Given the description of an element on the screen output the (x, y) to click on. 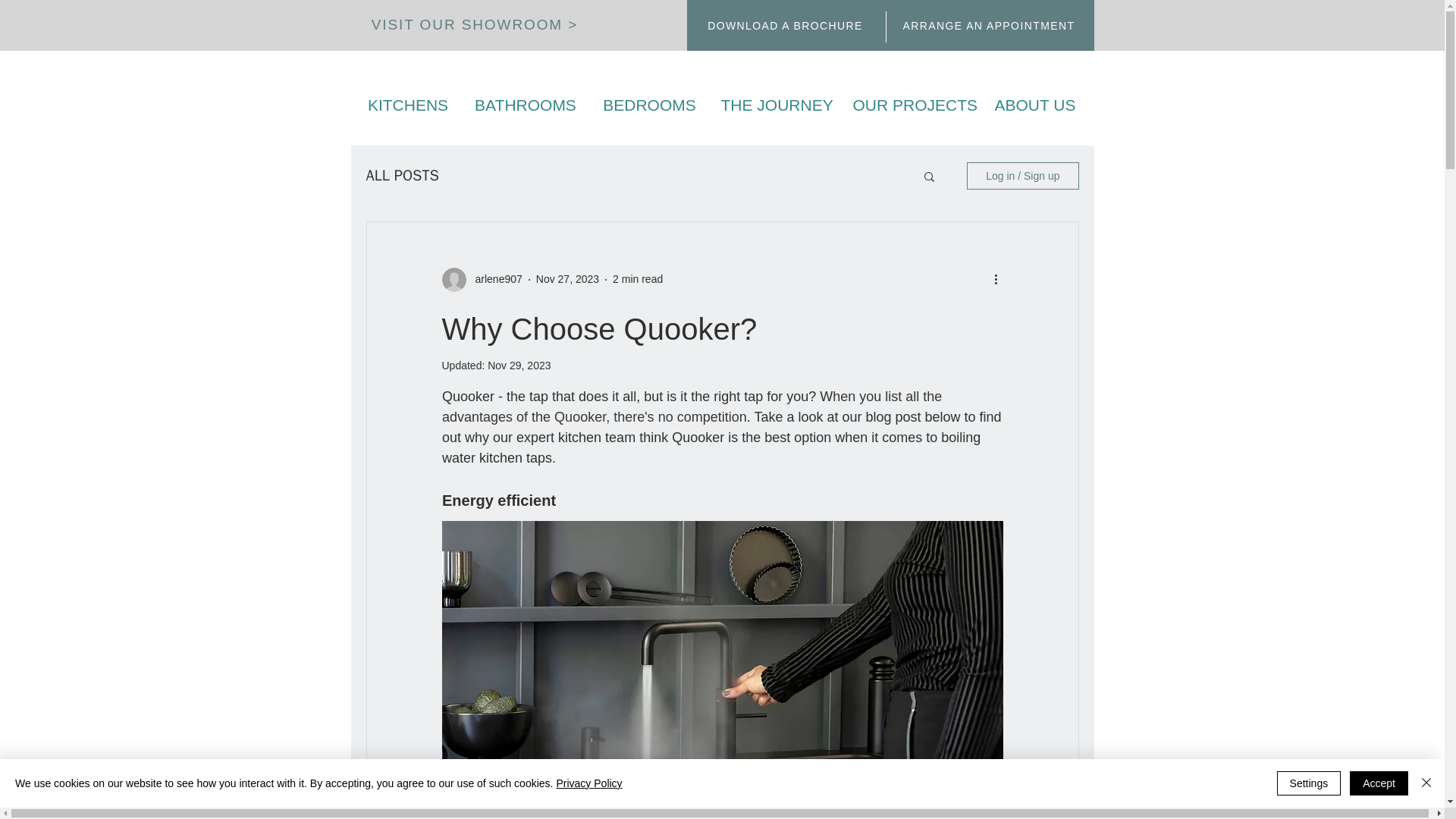
ABOUT US (1035, 105)
ALL POSTS (401, 175)
BEDROOMS (649, 105)
THE JOURNEY (773, 105)
ARRANGE AN APPOINTMENT (990, 25)
2 min read (637, 278)
arlene907 (493, 279)
OUR PROJECTS (909, 105)
BATHROOMS (525, 105)
KITCHENS (407, 105)
Nov 27, 2023 (566, 278)
Nov 29, 2023 (518, 365)
DOWNLOAD A BROCHURE (786, 25)
